Given the description of an element on the screen output the (x, y) to click on. 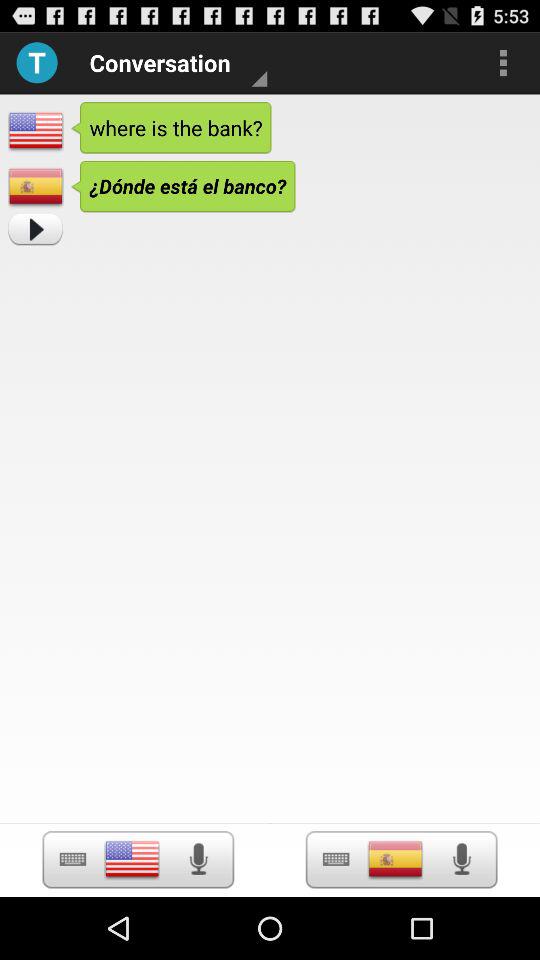
go forward (35, 229)
